Given the description of an element on the screen output the (x, y) to click on. 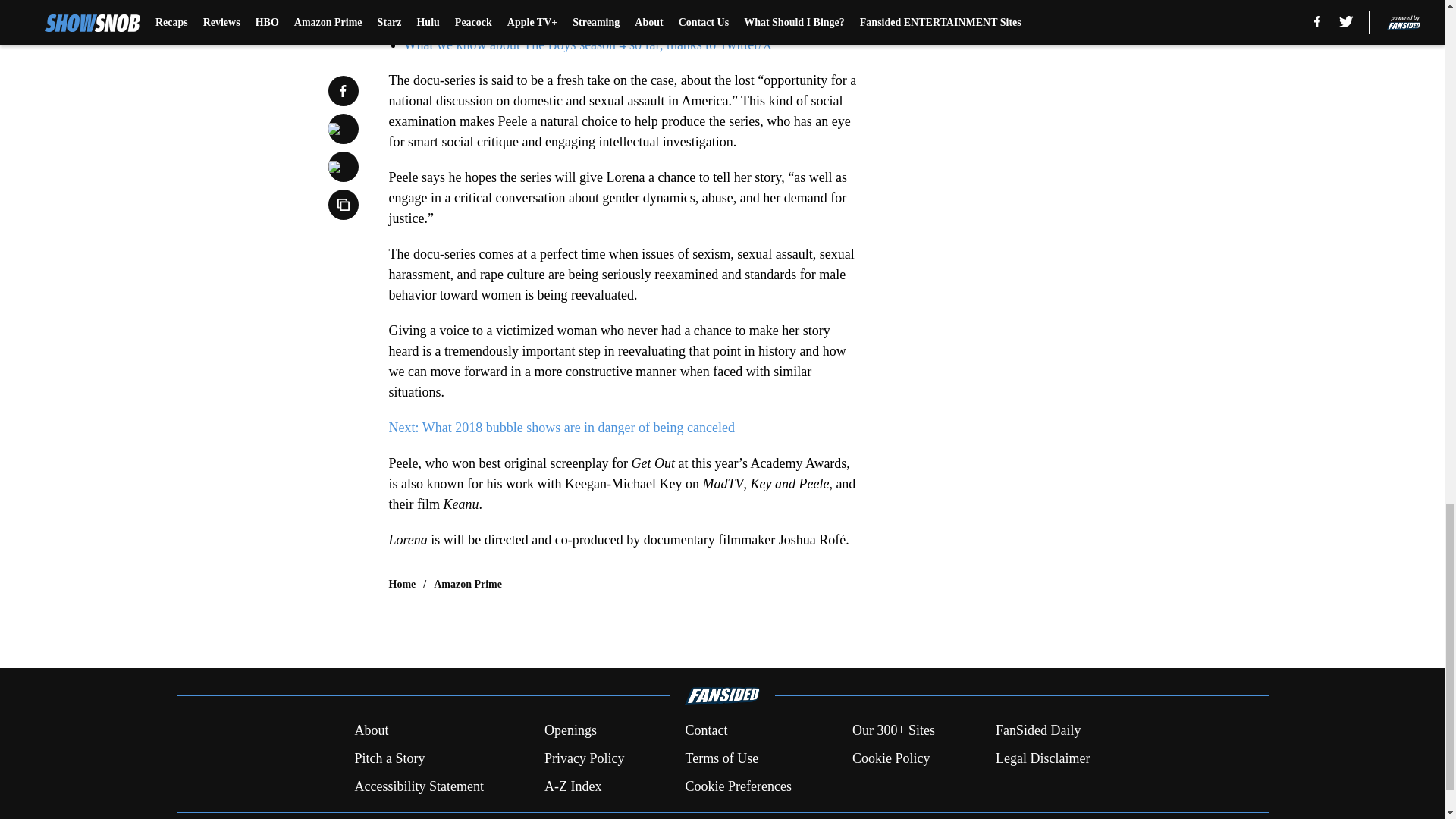
About (370, 730)
Amazon Prime (467, 584)
Home (401, 584)
Pitch a Story (389, 758)
FanSided Daily (1038, 730)
Openings (570, 730)
Contact (705, 730)
Next: What 2018 bubble shows are in danger of being canceled (561, 427)
Privacy Policy (584, 758)
